Given the description of an element on the screen output the (x, y) to click on. 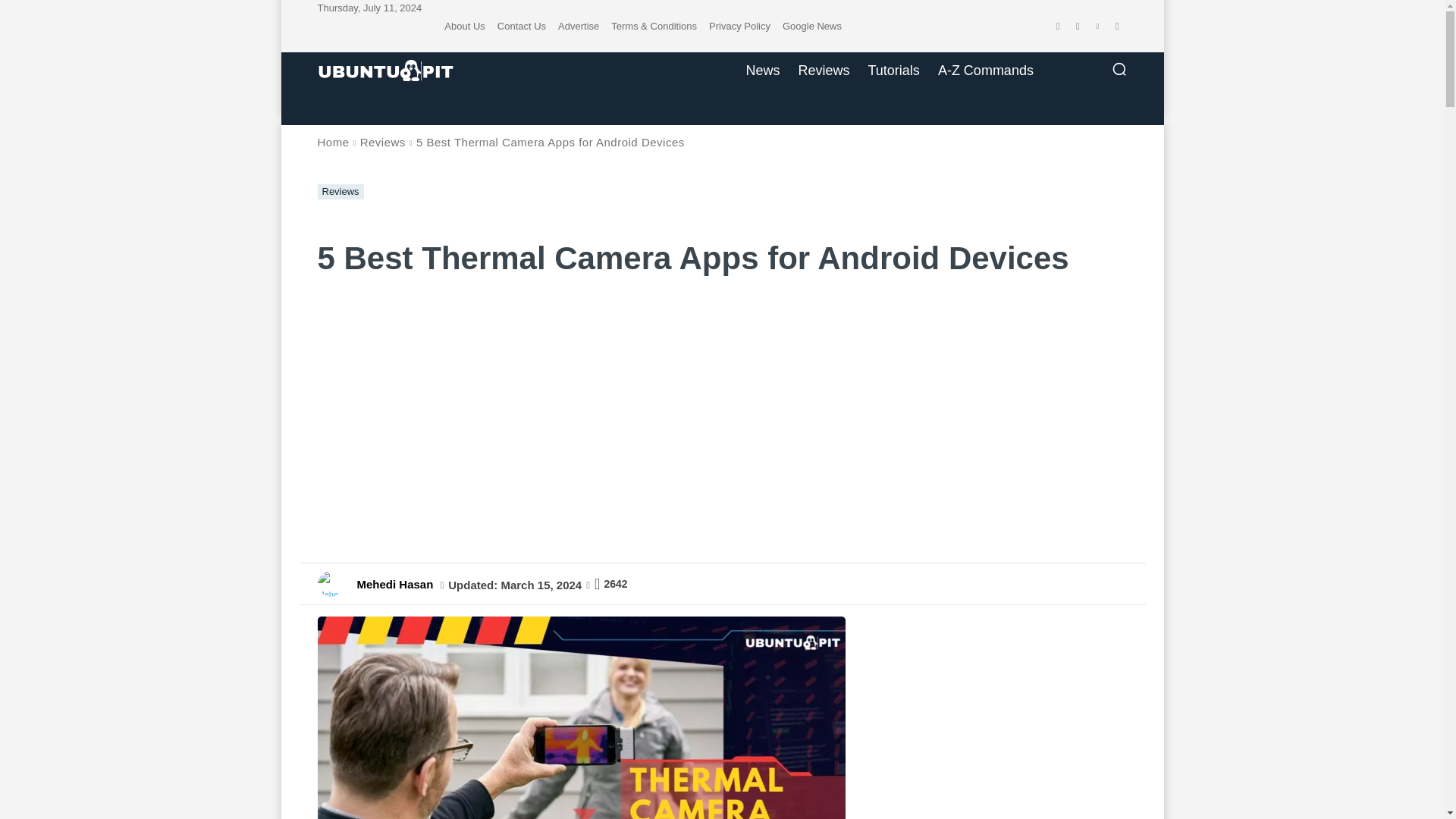
Contact Us (521, 26)
Twitter (1116, 26)
Flipboard (1077, 26)
Advertise (577, 26)
Reviews (339, 191)
A-Z Commands (985, 70)
Google News (812, 26)
Privacy Policy (739, 26)
Pinterest (1096, 26)
Home (333, 141)
